Given the description of an element on the screen output the (x, y) to click on. 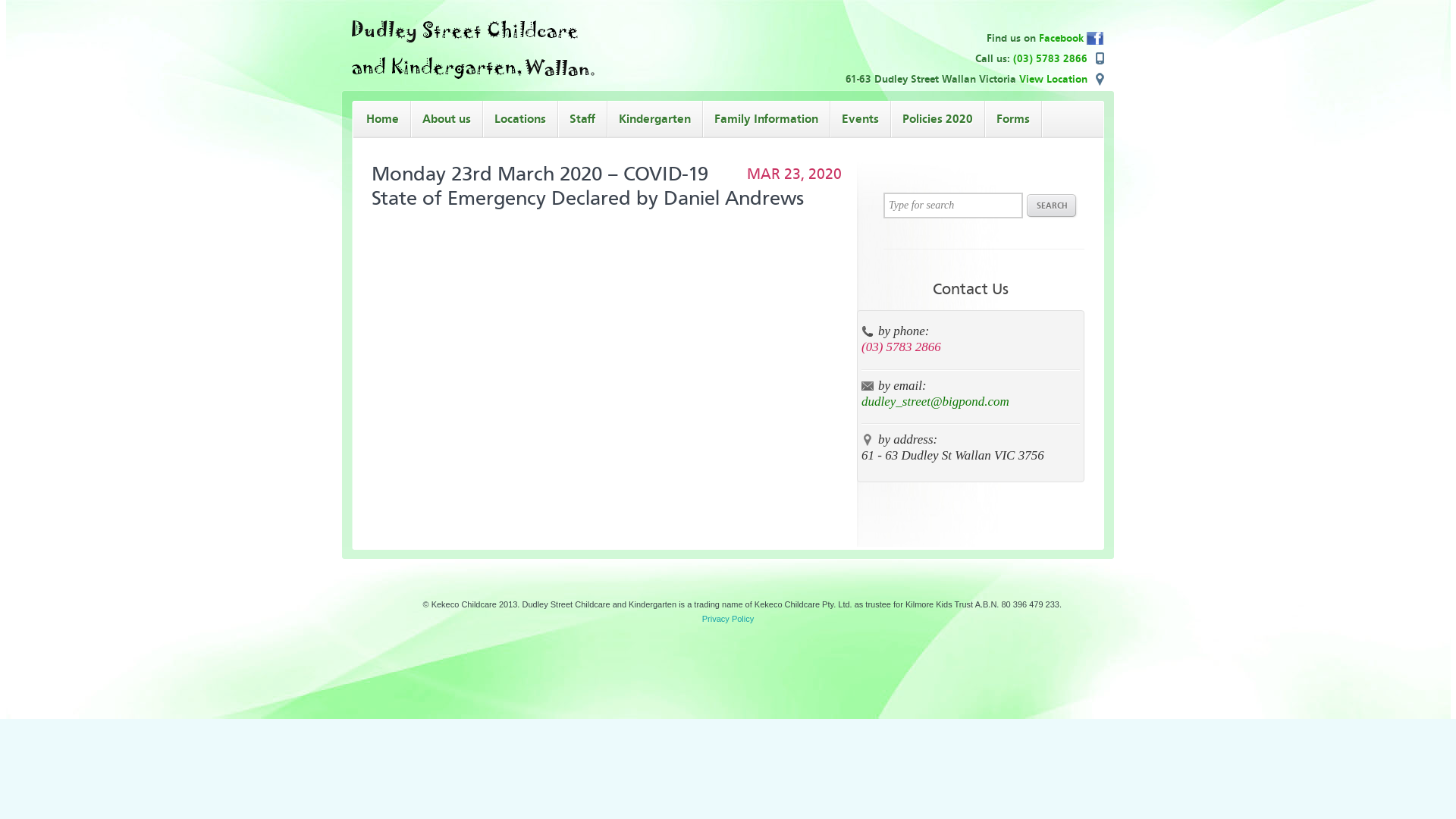
Search Element type: text (1051, 206)
Family Information Element type: text (765, 117)
Kindergarten Element type: text (654, 117)
(03) 5783 2866 Element type: text (1050, 58)
Forms Element type: text (1012, 117)
Home Element type: text (382, 117)
Policies 2020 Element type: text (937, 117)
About us Element type: text (446, 117)
Locations Element type: text (519, 117)
View Location Element type: text (1061, 78)
Facebook Element type: text (1071, 37)
Events Element type: text (860, 117)
dudley_street@bigpond.com Element type: text (935, 401)
Privacy Policy Element type: text (727, 618)
Staff Element type: text (581, 117)
